Given the description of an element on the screen output the (x, y) to click on. 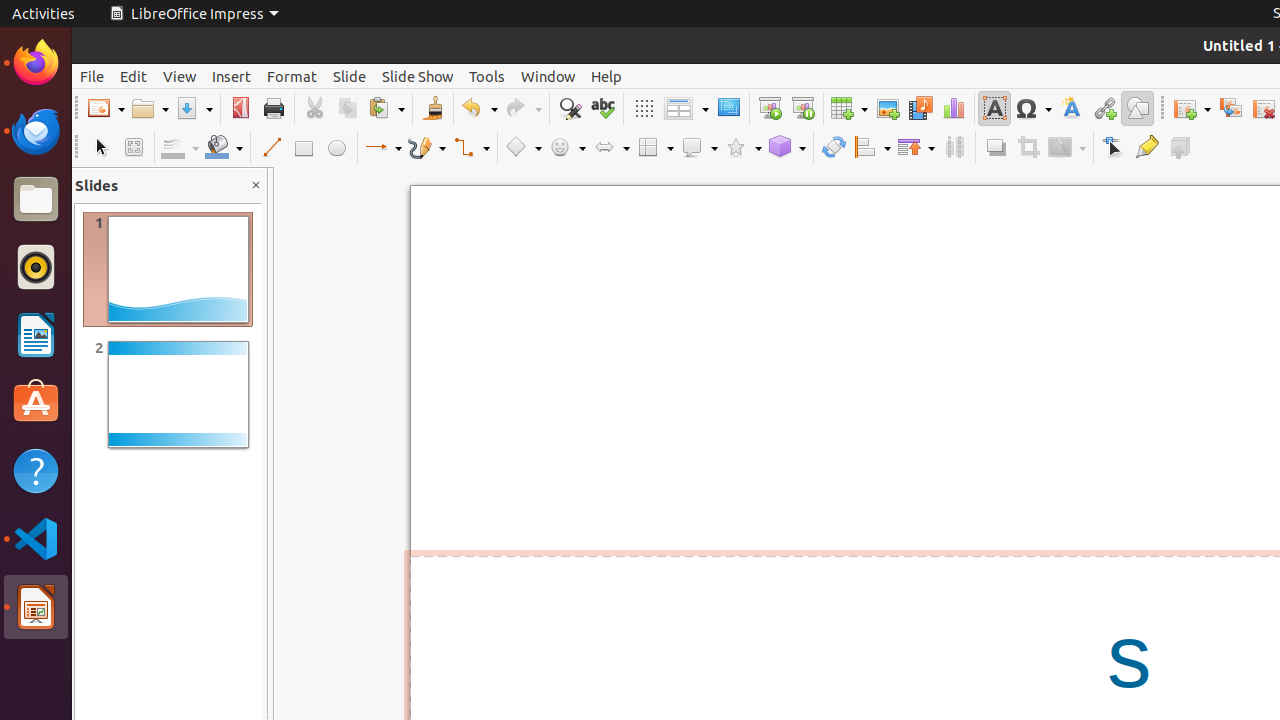
Find & Replace Element type: toggle-button (569, 108)
Ellipse Element type: push-button (336, 147)
LibreOffice Impress Element type: push-button (36, 607)
Text Box Element type: push-button (994, 108)
Files Element type: push-button (36, 199)
